Given the description of an element on the screen output the (x, y) to click on. 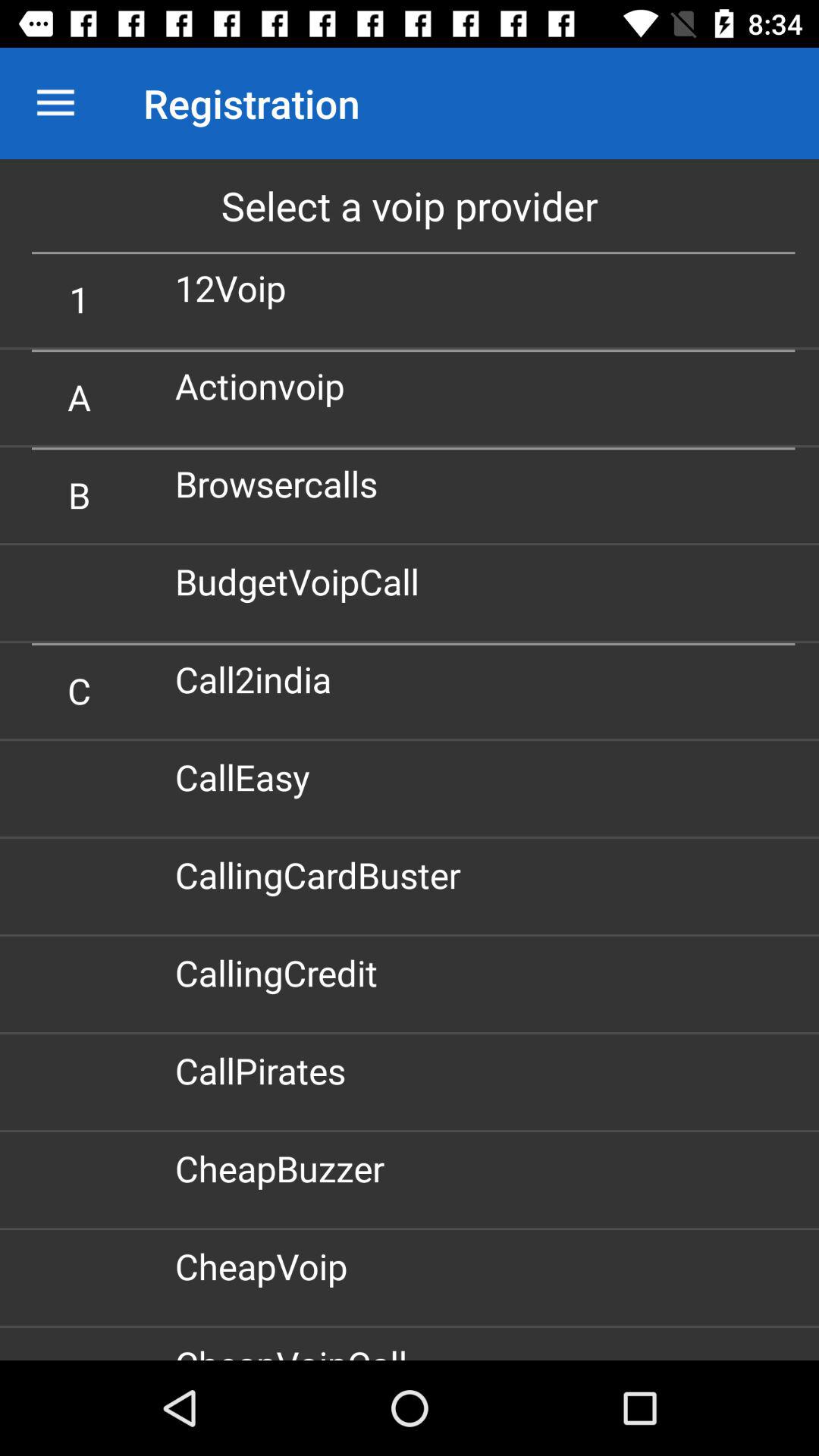
tap the item above cheapvoip item (285, 1168)
